Given the description of an element on the screen output the (x, y) to click on. 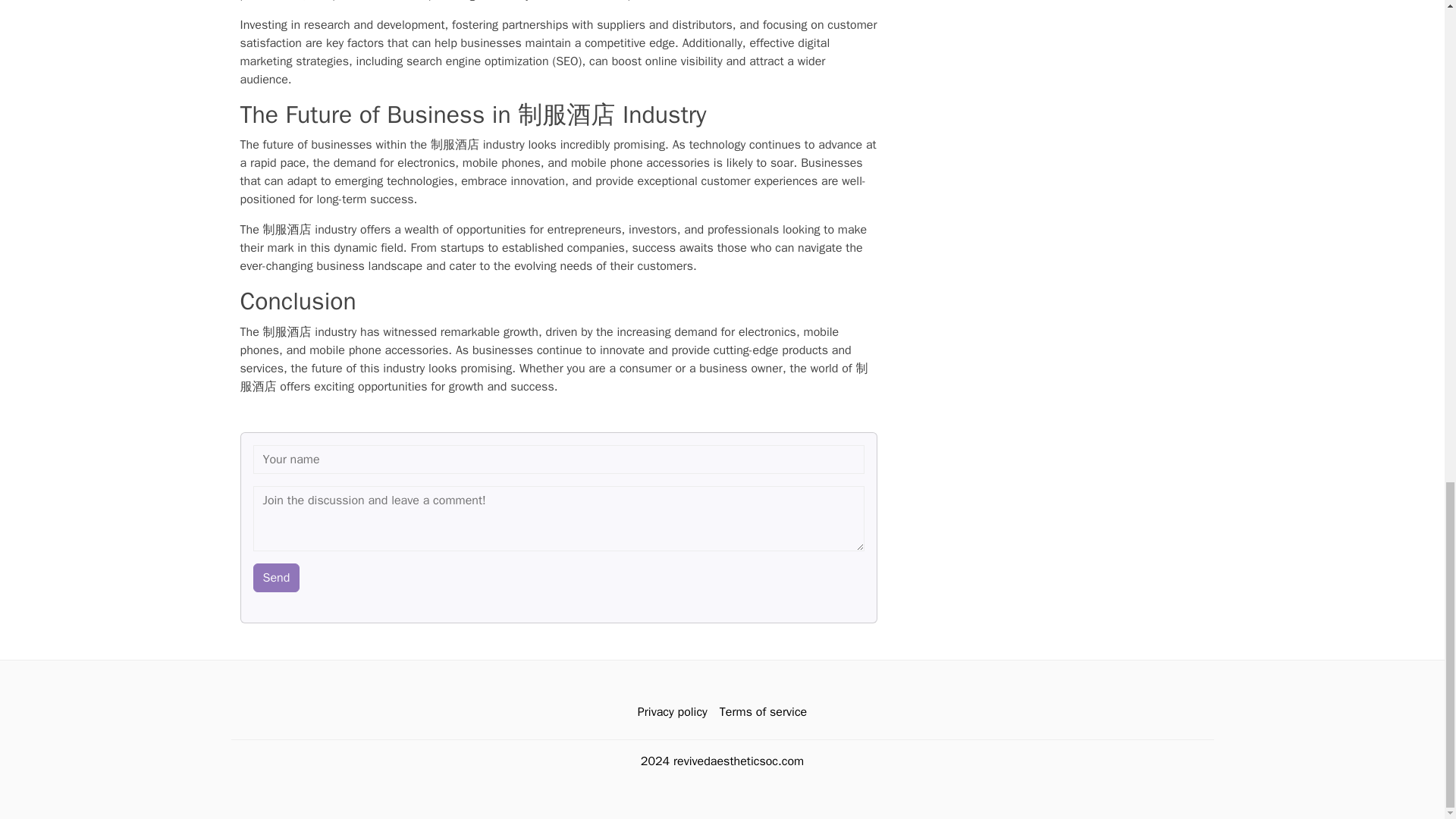
Privacy policy (672, 711)
Terms of service (762, 711)
Send (276, 576)
Send (276, 576)
